Given the description of an element on the screen output the (x, y) to click on. 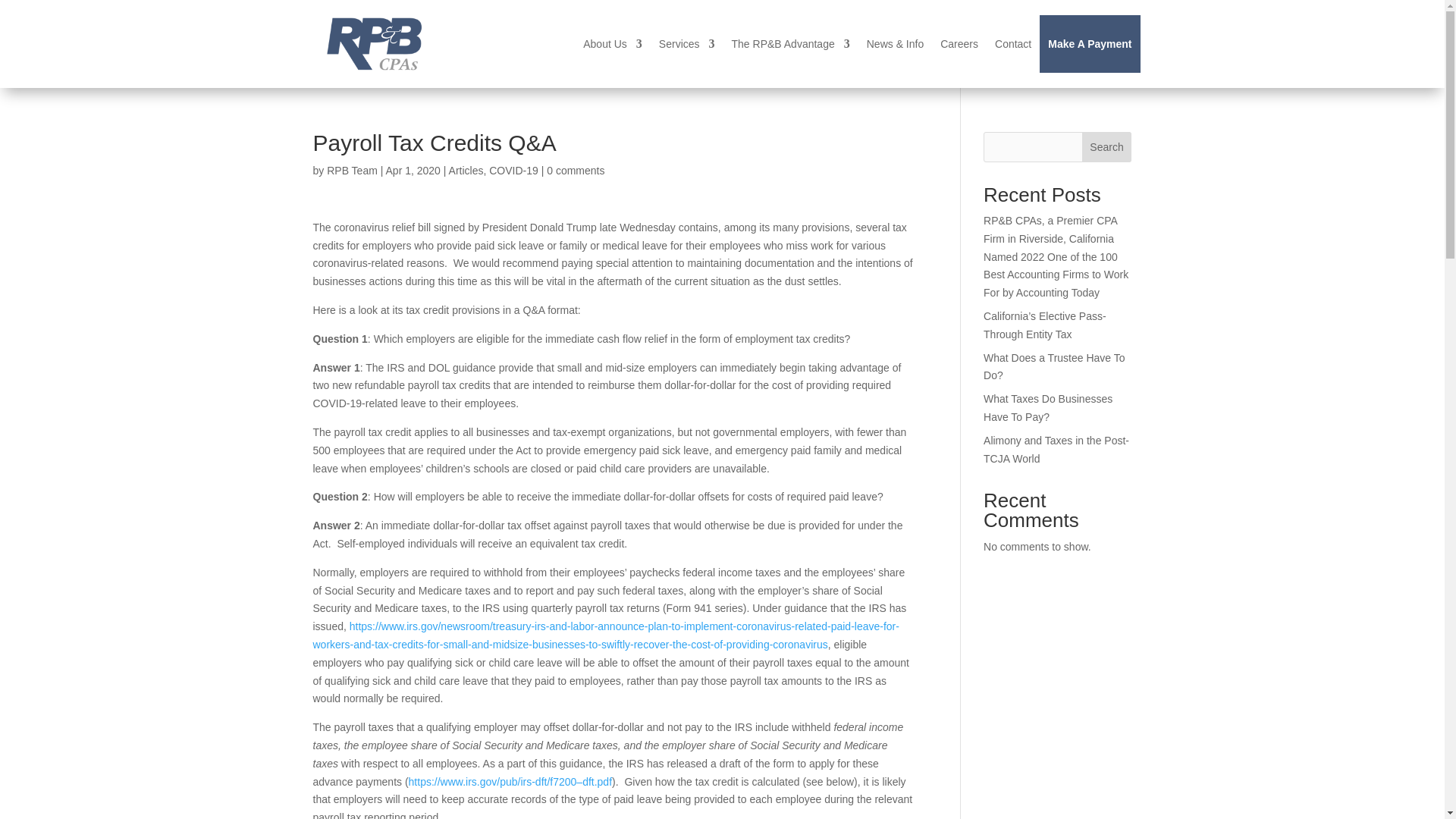
Posts by RPB Team (351, 170)
Make A Payment (1089, 43)
COVID-19 (513, 170)
RPB Team (351, 170)
Articles (465, 170)
Services (686, 43)
About Us (612, 43)
